Given the description of an element on the screen output the (x, y) to click on. 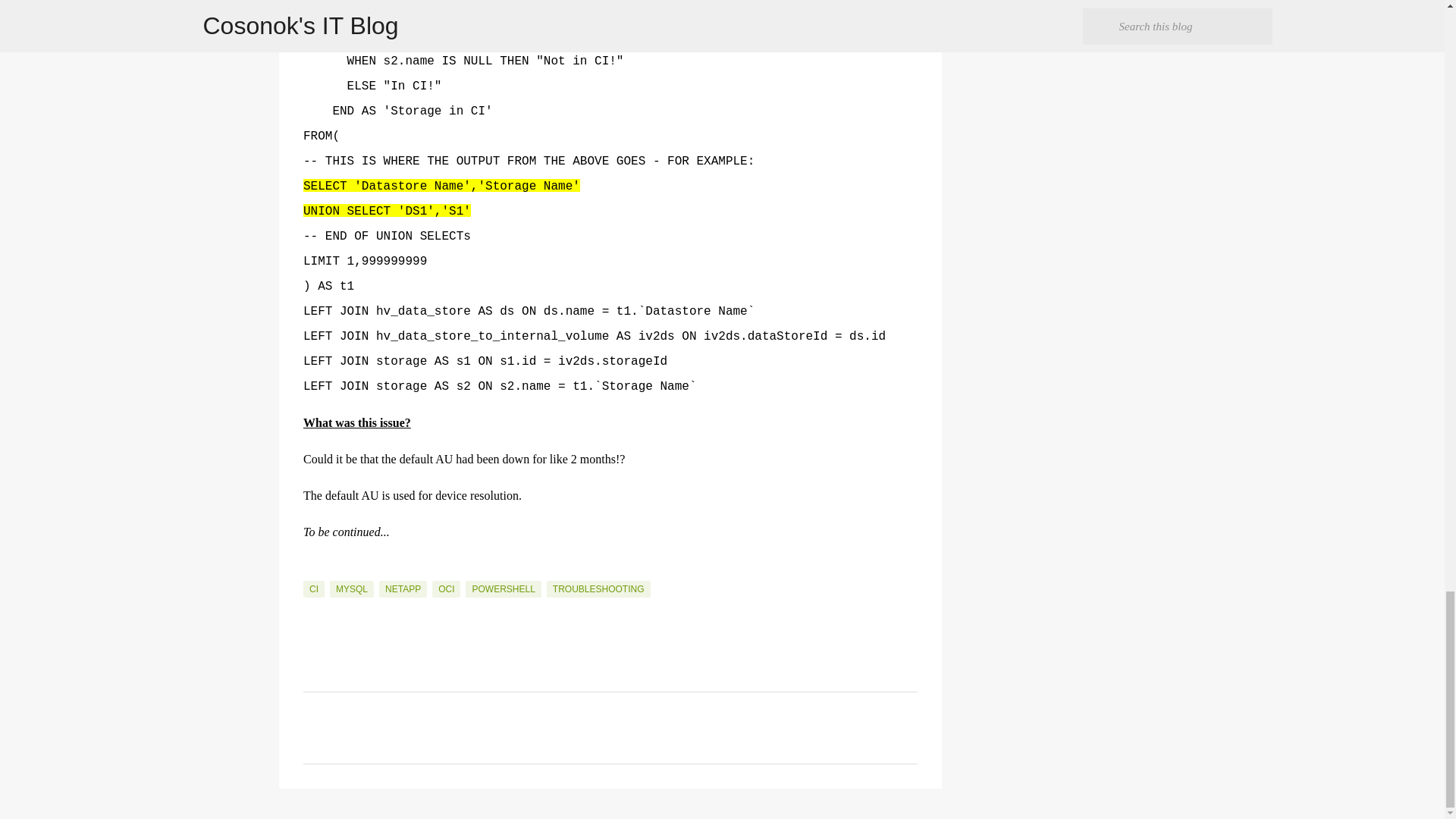
OCI (446, 588)
NETAPP (402, 588)
MYSQL (352, 588)
CI (313, 588)
TROUBLESHOOTING (598, 588)
Email Post (311, 571)
POWERSHELL (502, 588)
